Given the description of an element on the screen output the (x, y) to click on. 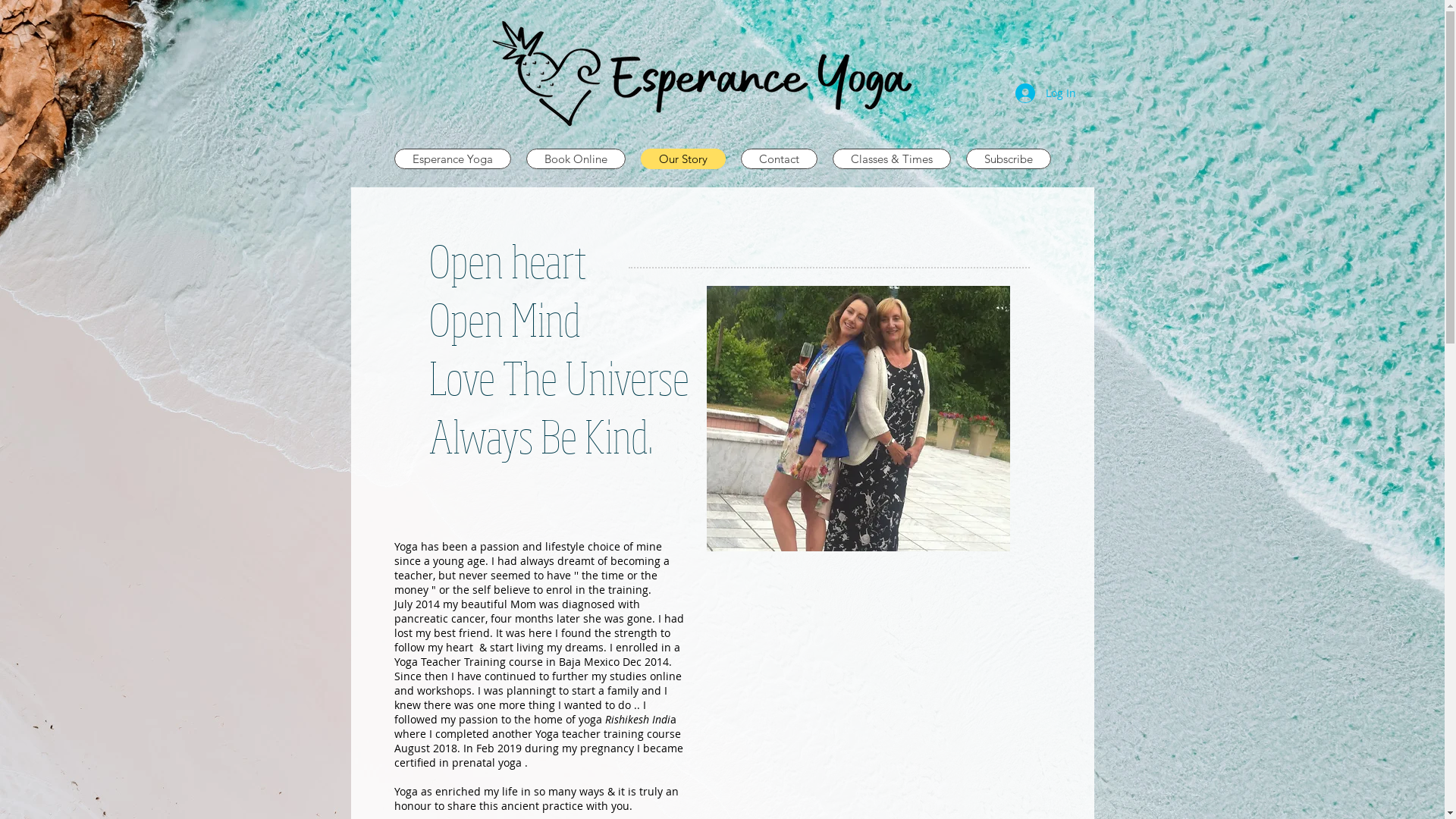
Our Story Element type: text (682, 158)
Log In Element type: text (1044, 92)
Subscribe Element type: text (1008, 158)
Classes & Times Element type: text (891, 158)
Contact Element type: text (778, 158)
Esperance Yoga Element type: text (452, 158)
Book Online Element type: text (575, 158)
